Given the description of an element on the screen output the (x, y) to click on. 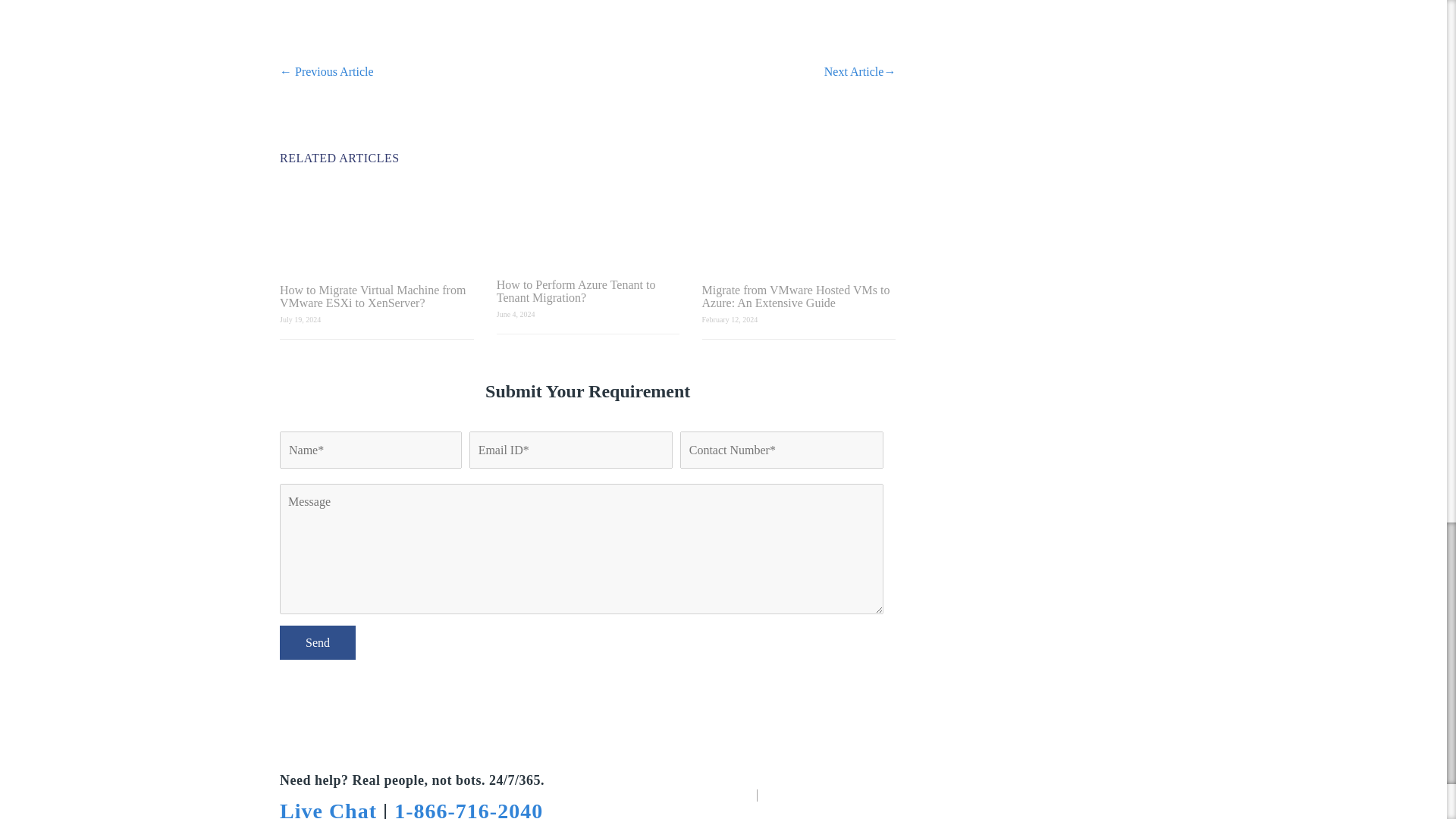
Migrate from VMware Hosted VMs to Azure: An Extensive Guide (798, 296)
Live Chat (328, 809)
Send (317, 642)
Home (737, 793)
1-866-716-2040 (468, 809)
Send (317, 642)
How to Perform Azure Tenant to Tenant Migration? (587, 290)
